Given the description of an element on the screen output the (x, y) to click on. 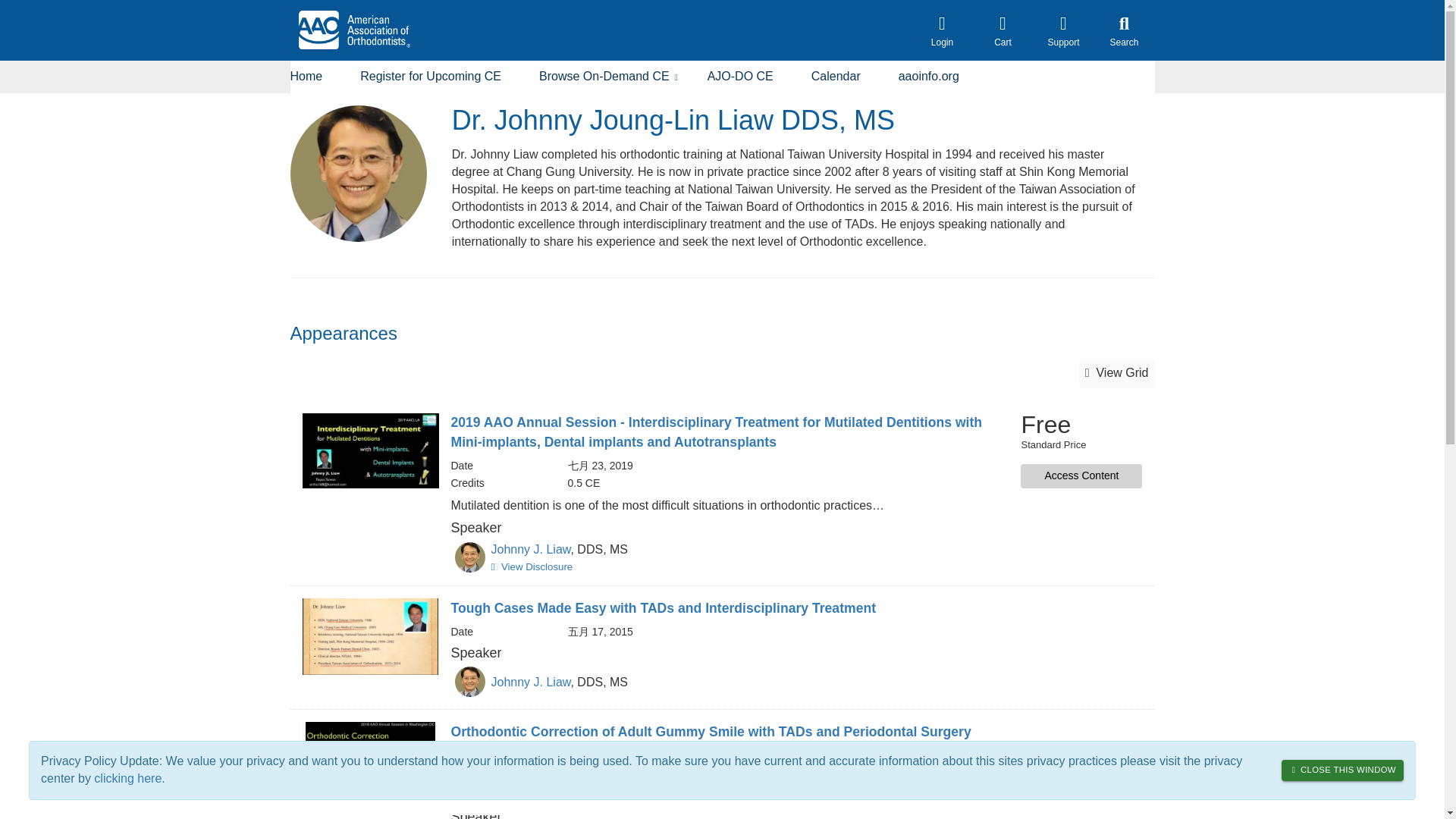
Search (1123, 30)
Johnny J. Liaw (531, 549)
Speaker Image for Johnny Liaw (469, 681)
Login (941, 30)
CLOSE THIS WINDOW (1342, 770)
clicking here (127, 778)
AJO-DO CE (740, 76)
Register for Upcoming CE (429, 76)
Support (1062, 30)
